Given the description of an element on the screen output the (x, y) to click on. 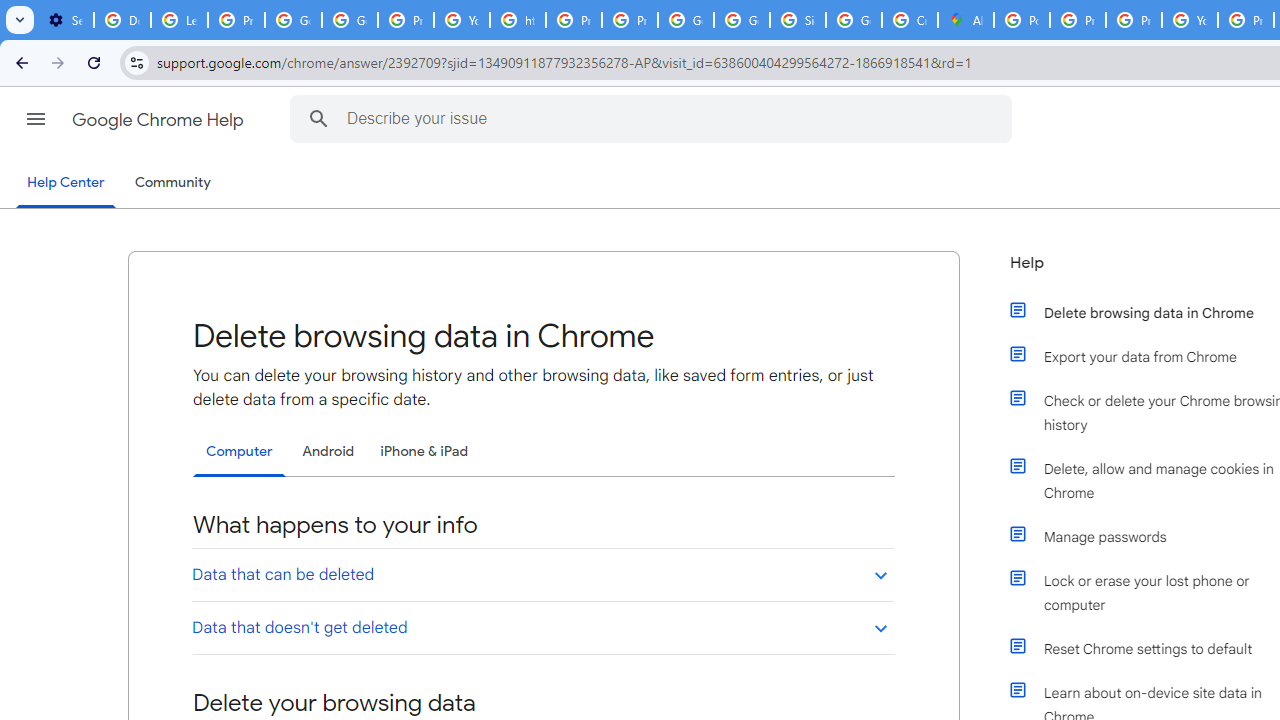
Delete photos & videos - Computer - Google Photos Help (122, 20)
Search Help Center (318, 118)
Data that doesn't get deleted (542, 627)
Community (171, 183)
Help Center (65, 183)
